Given the description of an element on the screen output the (x, y) to click on. 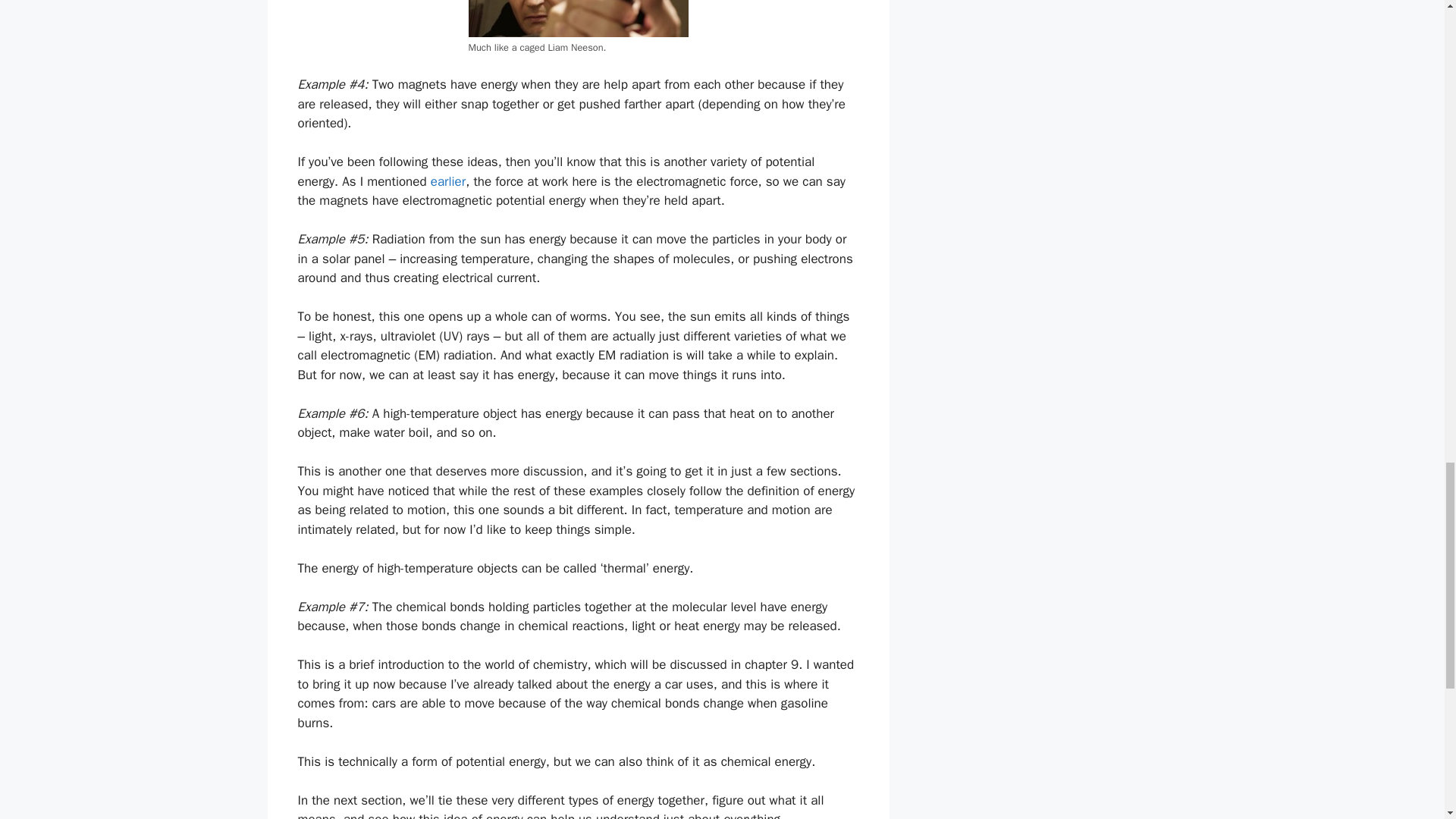
liam neeson - taken (578, 18)
2.2 Forces (447, 181)
earlier (447, 181)
